Given the description of an element on the screen output the (x, y) to click on. 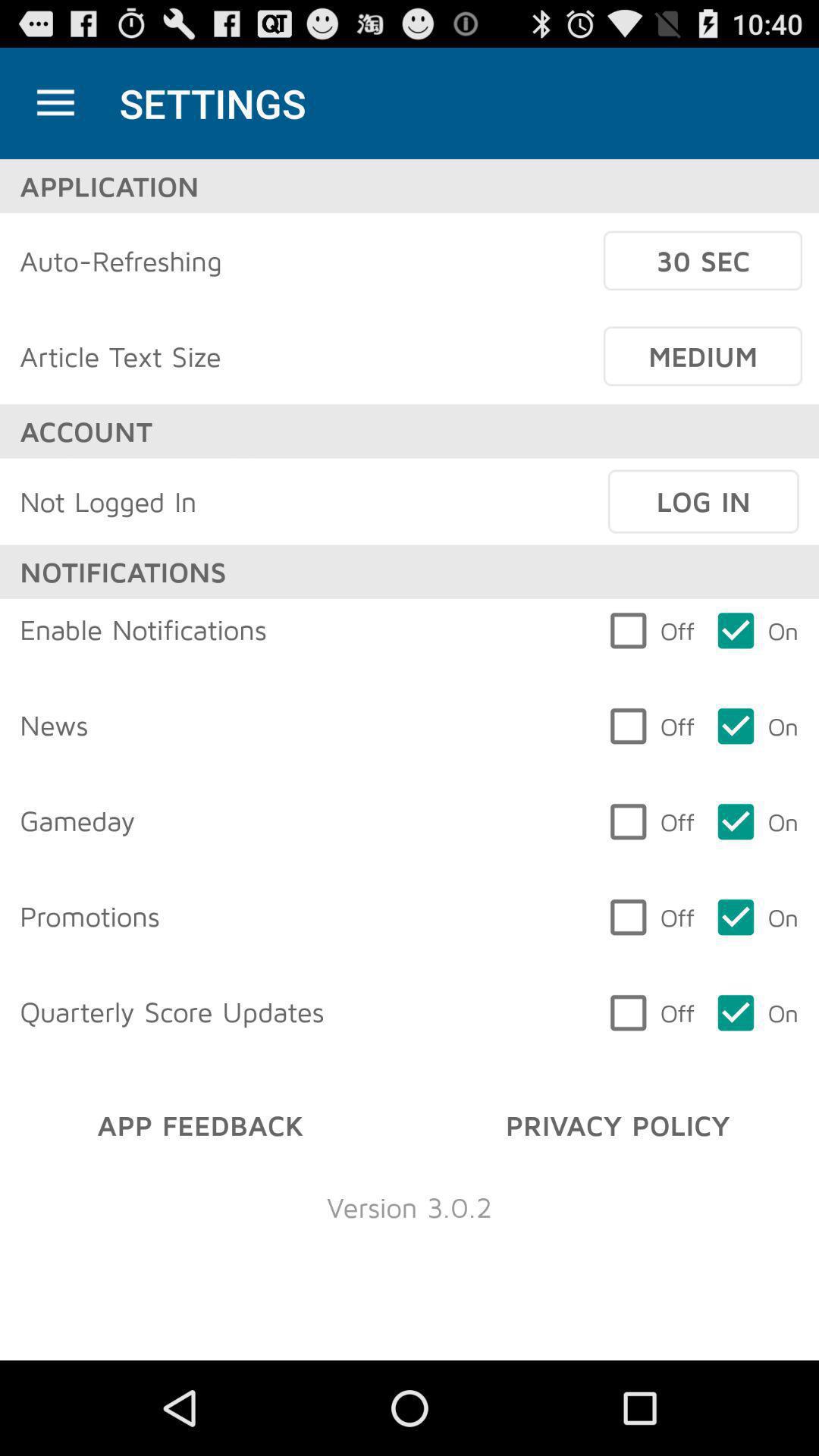
choose the item to the left of settings app (55, 103)
